Given the description of an element on the screen output the (x, y) to click on. 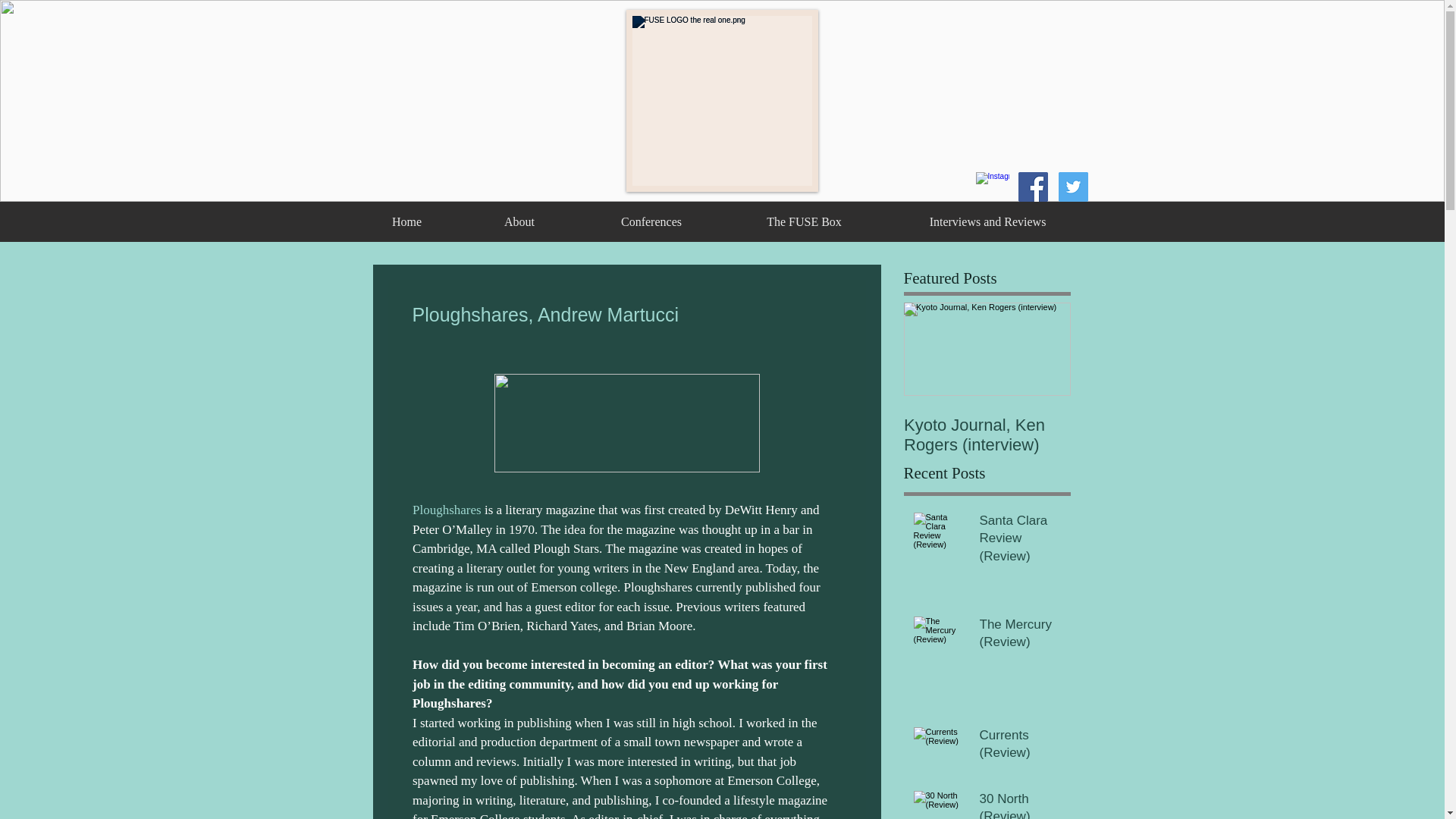
Ploughshares (446, 509)
Home (406, 221)
The FUSE Box (803, 221)
Interviews and Reviews (986, 221)
Conferences (651, 221)
About (519, 221)
